Given the description of an element on the screen output the (x, y) to click on. 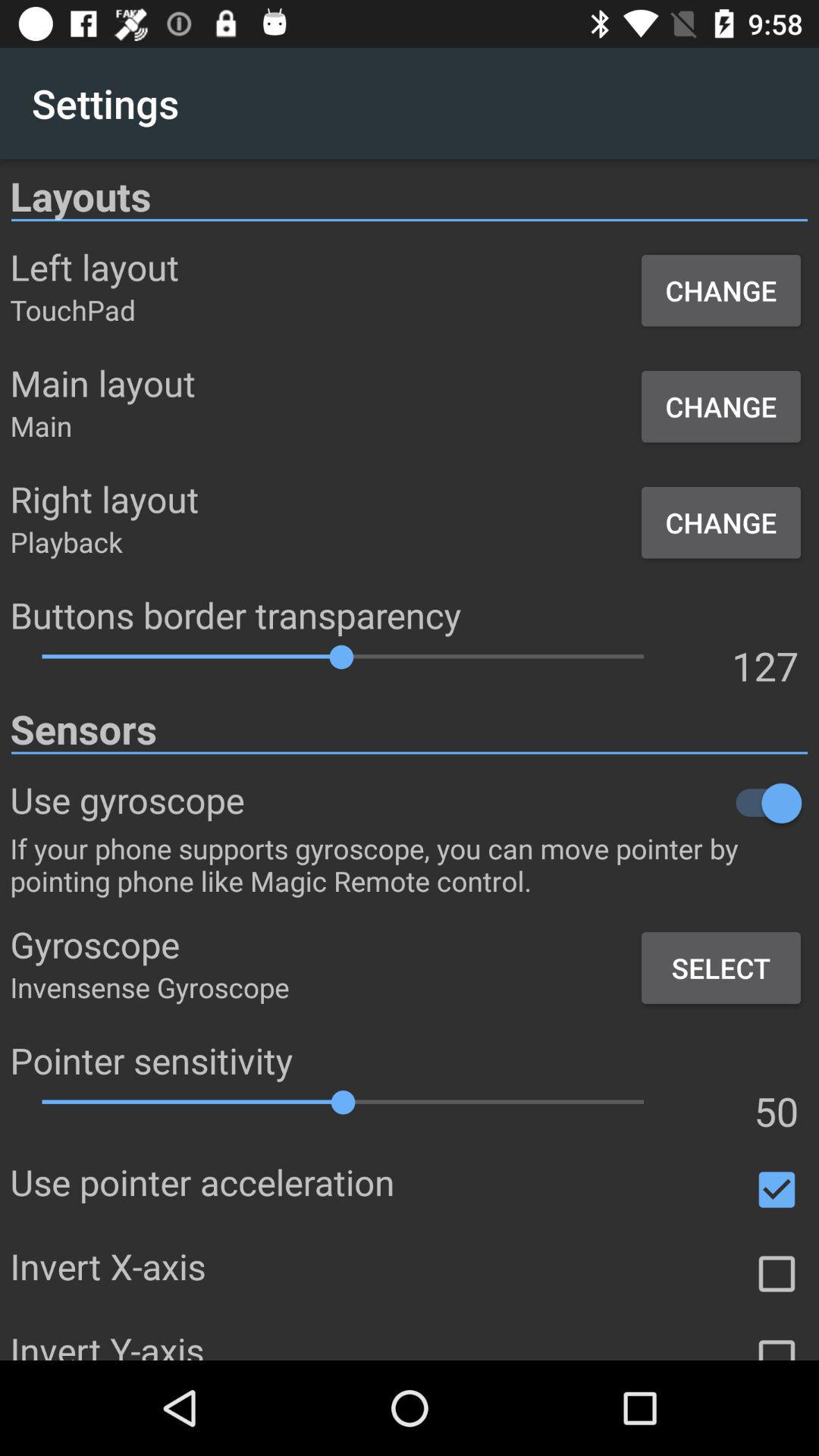
tap the icon above if your phone icon (526, 802)
